Given the description of an element on the screen output the (x, y) to click on. 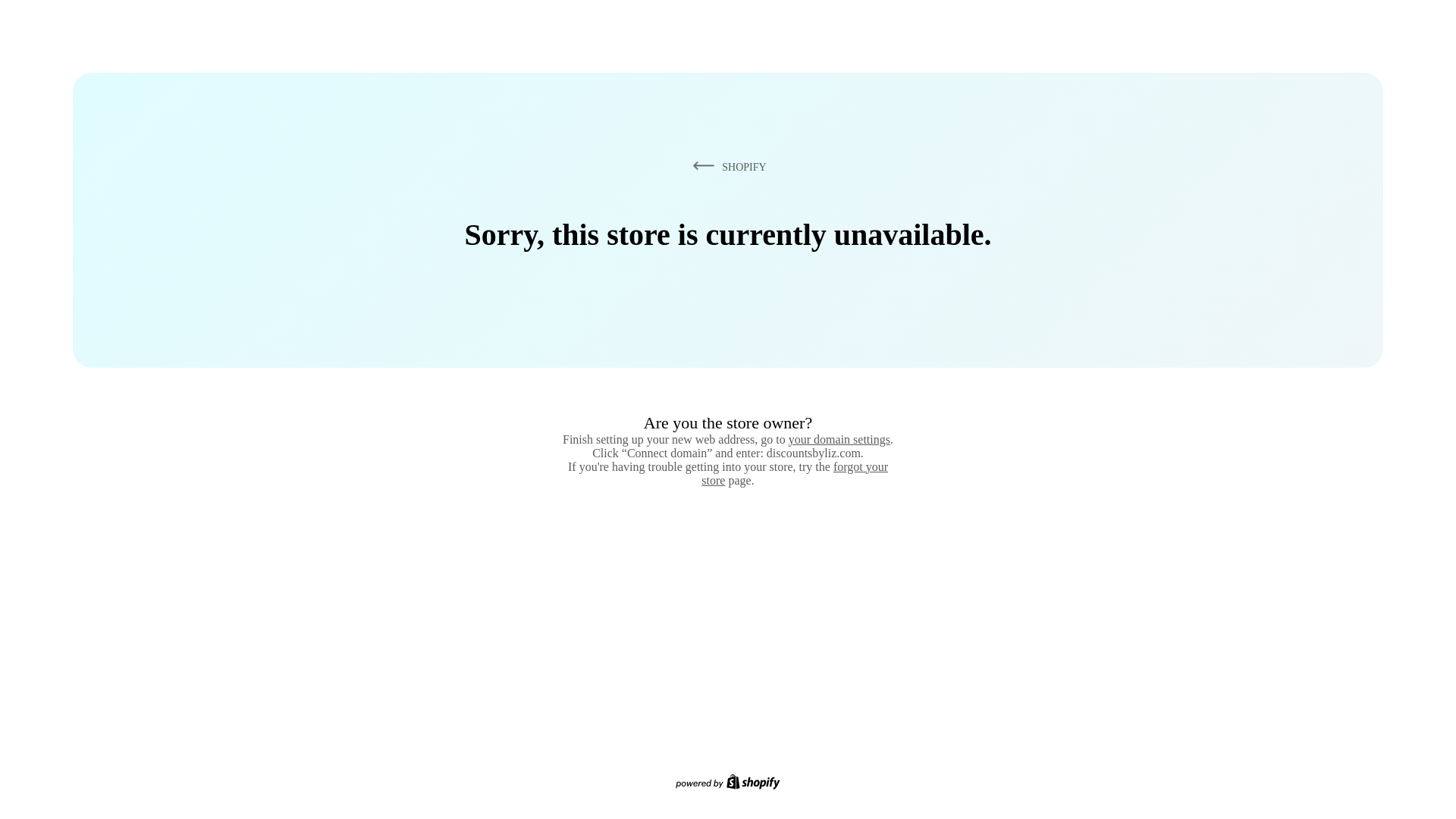
SHOPIFY (726, 166)
your domain settings (839, 439)
forgot your store (794, 473)
